Given the description of an element on the screen output the (x, y) to click on. 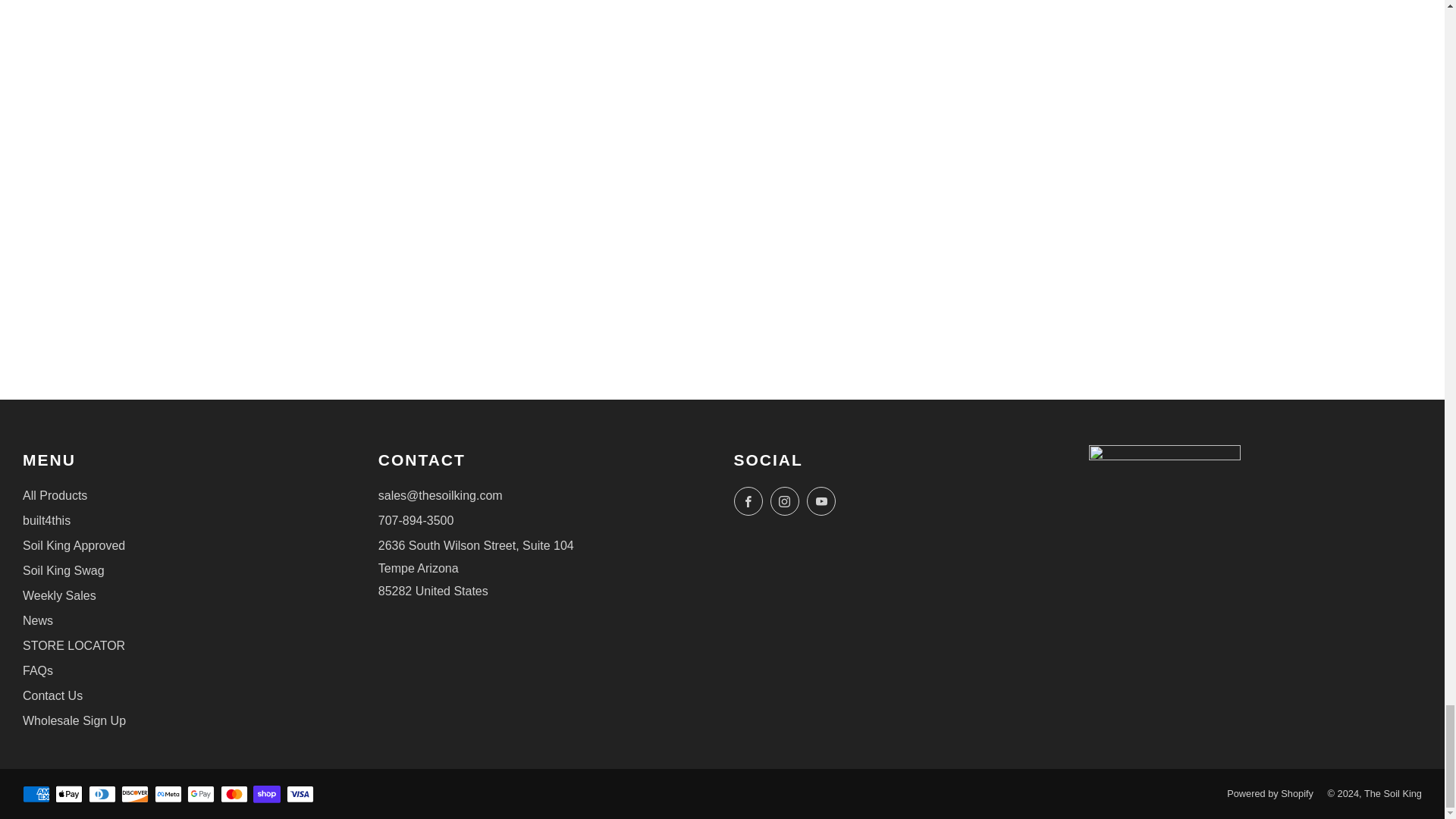
Mastercard (234, 794)
Discover (134, 794)
American Express (36, 794)
Visa (300, 794)
Apple Pay (68, 794)
Diners Club (102, 794)
Google Pay (200, 794)
Shop Pay (267, 794)
Meta Pay (168, 794)
